Given the description of an element on the screen output the (x, y) to click on. 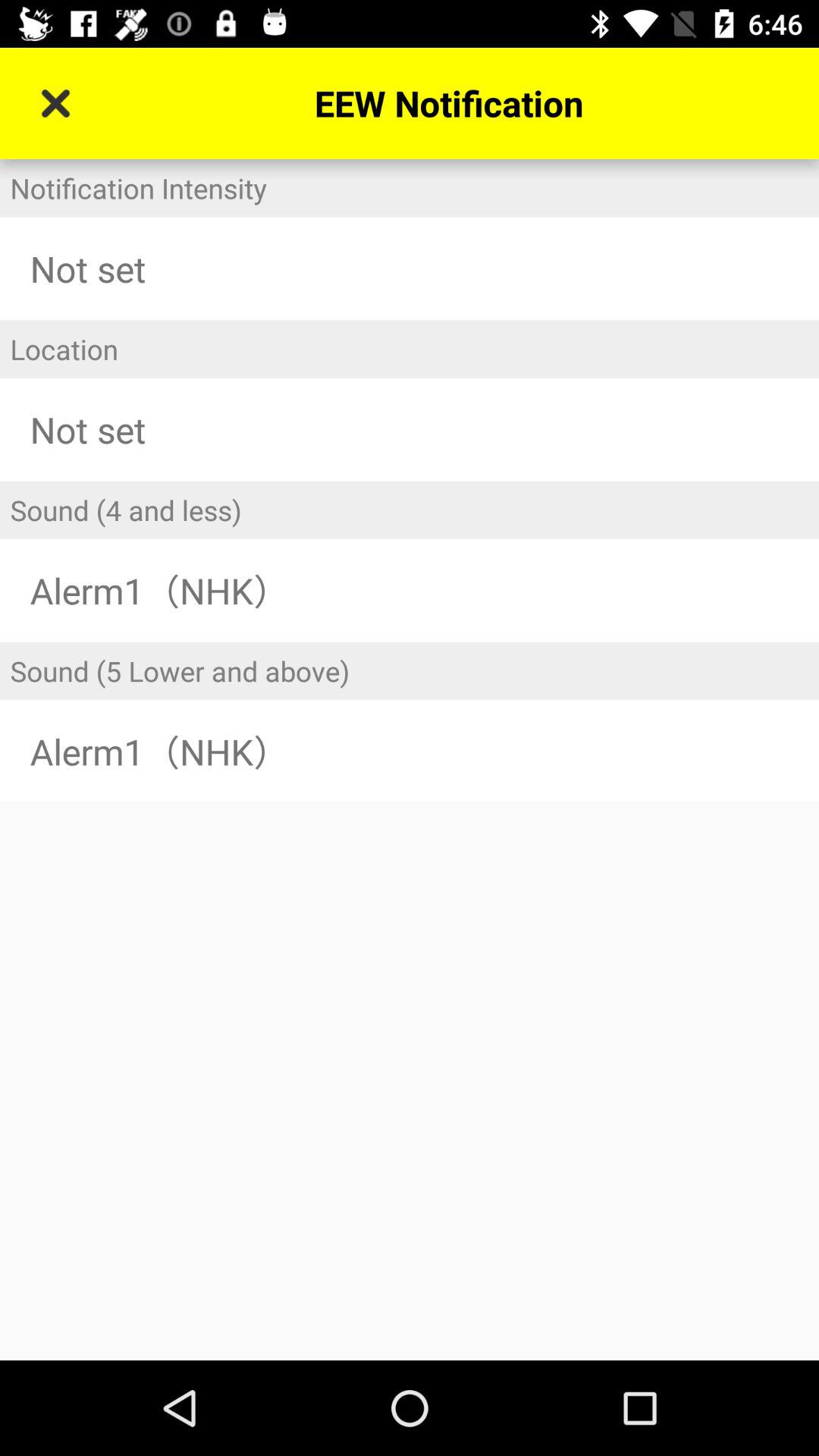
flip until sound 5 lower (409, 670)
